Given the description of an element on the screen output the (x, y) to click on. 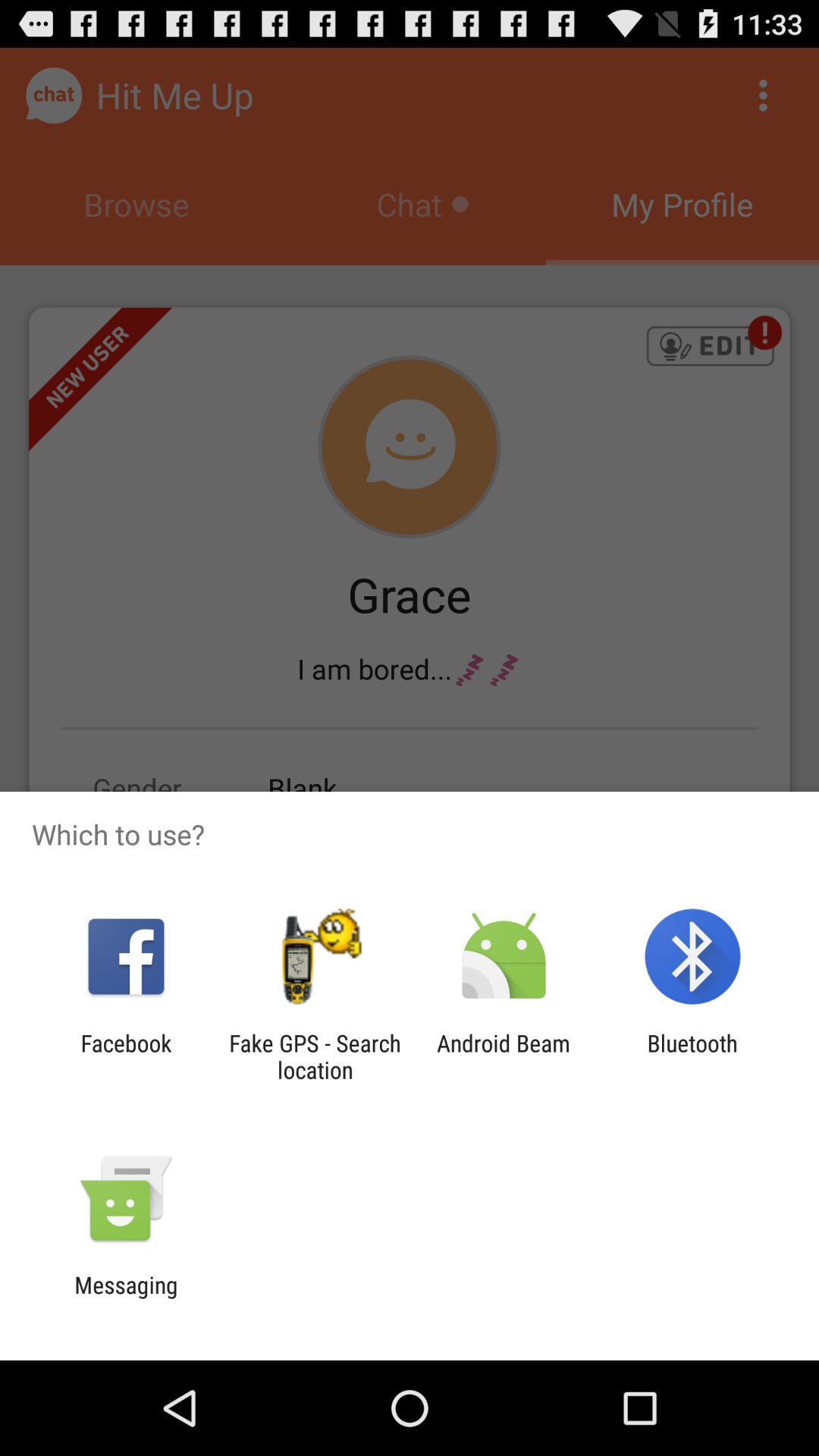
press item to the left of fake gps search app (125, 1056)
